Given the description of an element on the screen output the (x, y) to click on. 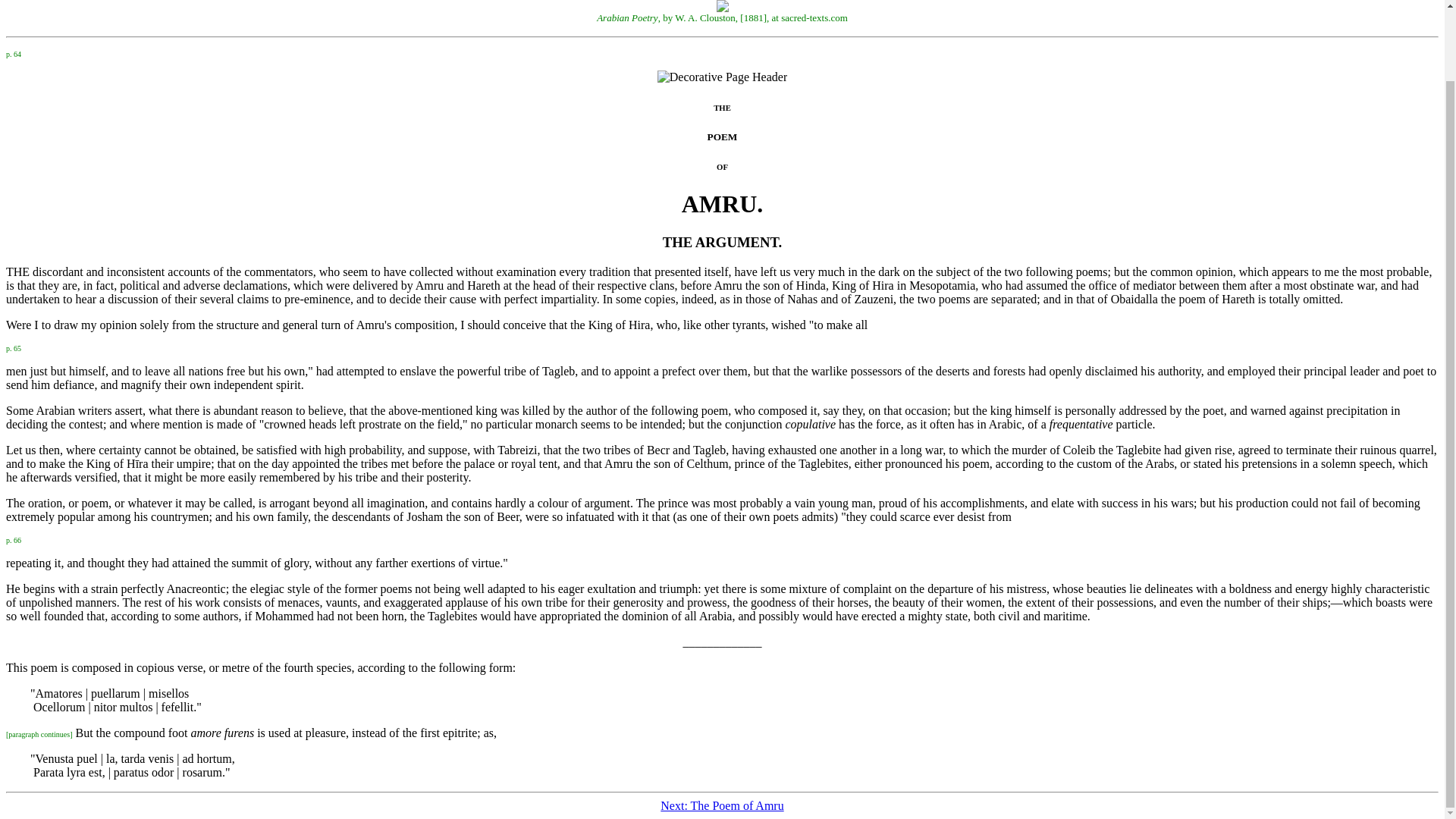
p. 65 (13, 346)
Next: The Poem of Amru (722, 805)
p. 66 (13, 538)
p. 64 (13, 51)
